Given the description of an element on the screen output the (x, y) to click on. 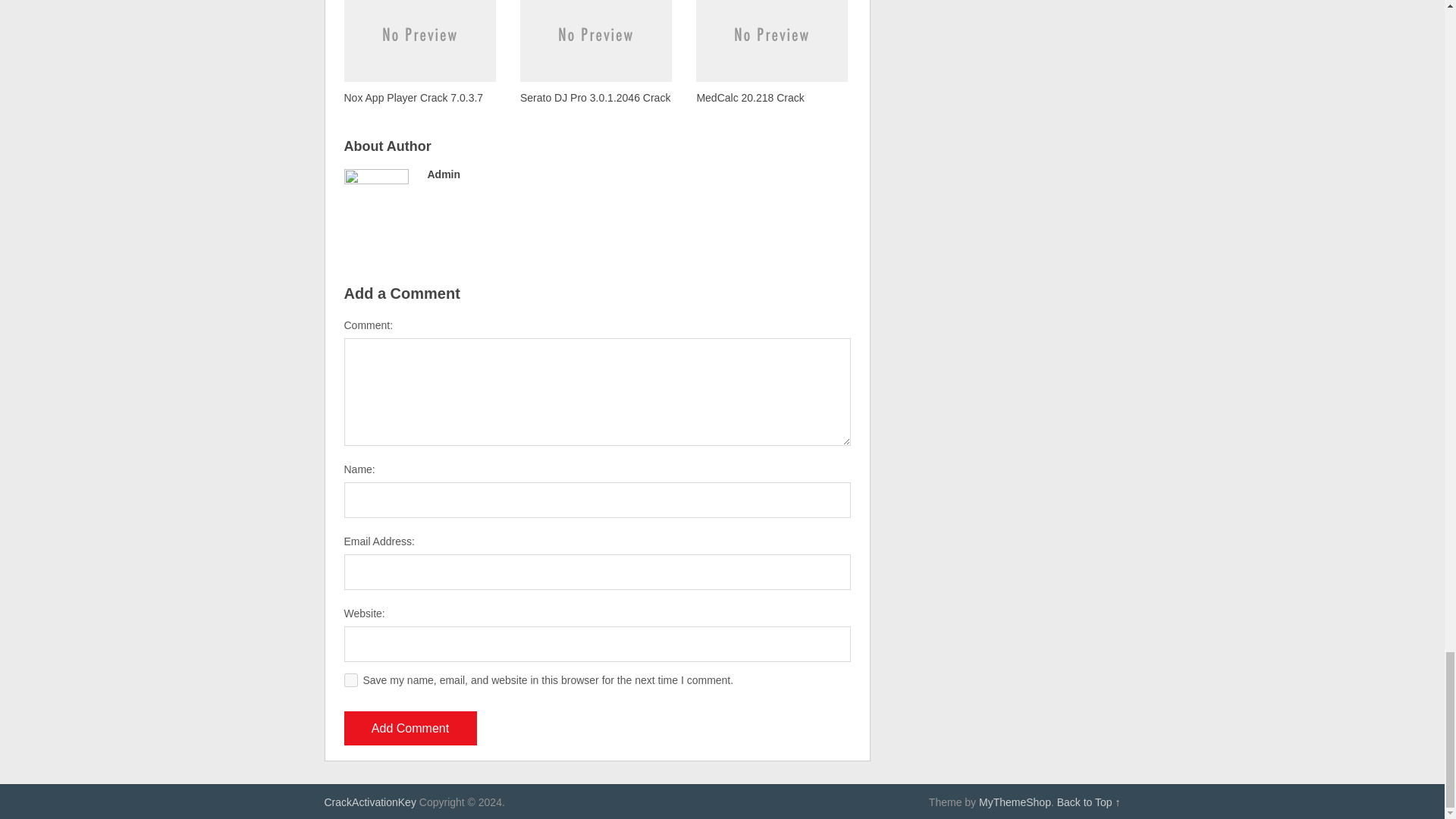
Nox App Player Crack 7.0.3.7 (419, 53)
MedCalc 20.218 Crack (771, 53)
Nox App Player Crack 7.0.3.7 (419, 53)
Add Comment (410, 728)
VST PC , Premium Mac, Crack Windows Softwares (370, 802)
Serato DJ Pro 3.0.1.2046 Crack (595, 53)
MedCalc 20.218 Crack (771, 53)
yes (350, 680)
Add Comment (410, 728)
Serato DJ Pro 3.0.1.2046 Crack (595, 53)
